Given the description of an element on the screen output the (x, y) to click on. 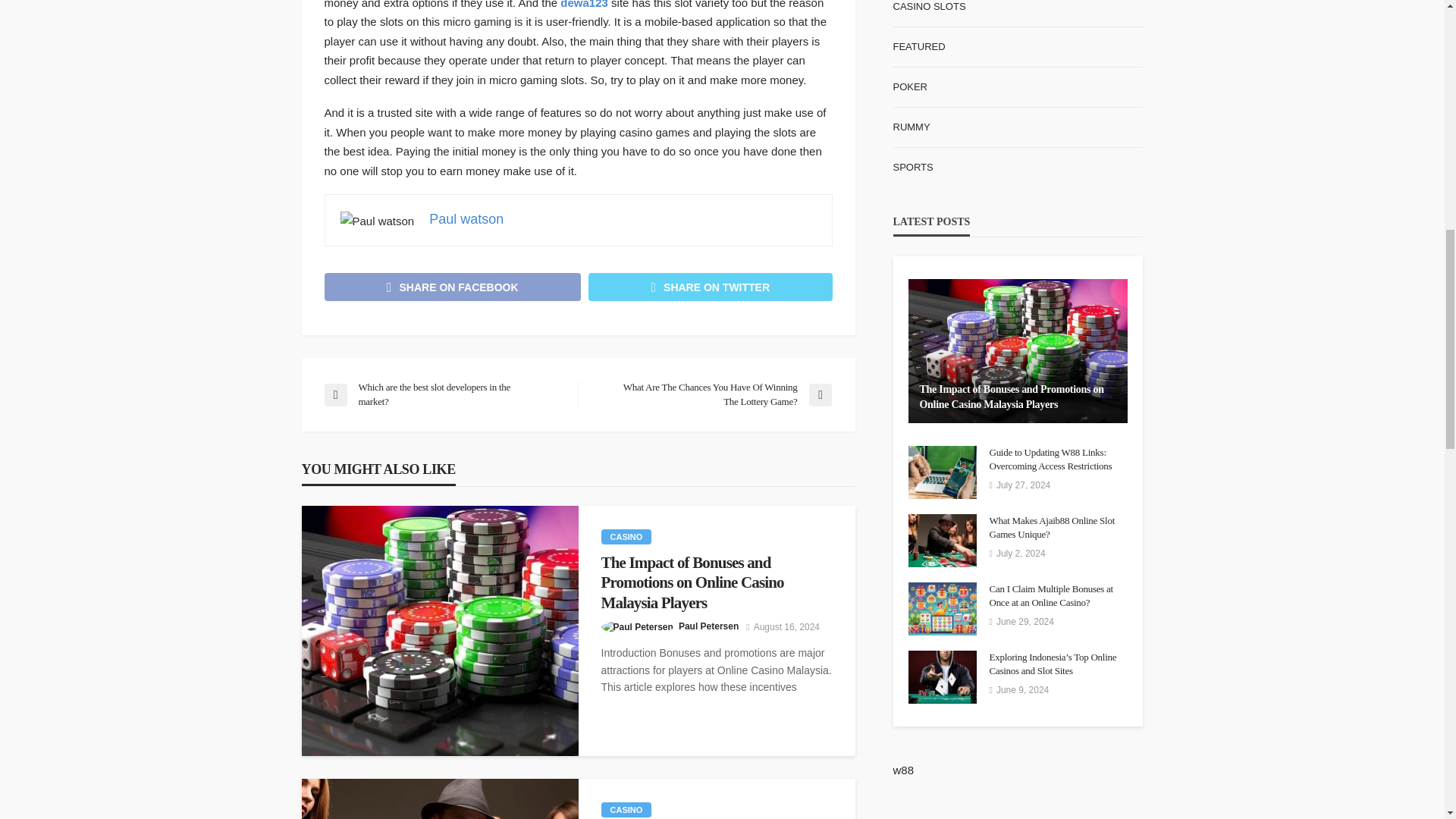
Casino (624, 809)
Paul Petersen (708, 626)
Casino (624, 536)
Which are the best slot developers in the market? (443, 393)
SHARE ON FACEBOOK (452, 286)
CASINO (624, 536)
Paul watson (466, 218)
